Given the description of an element on the screen output the (x, y) to click on. 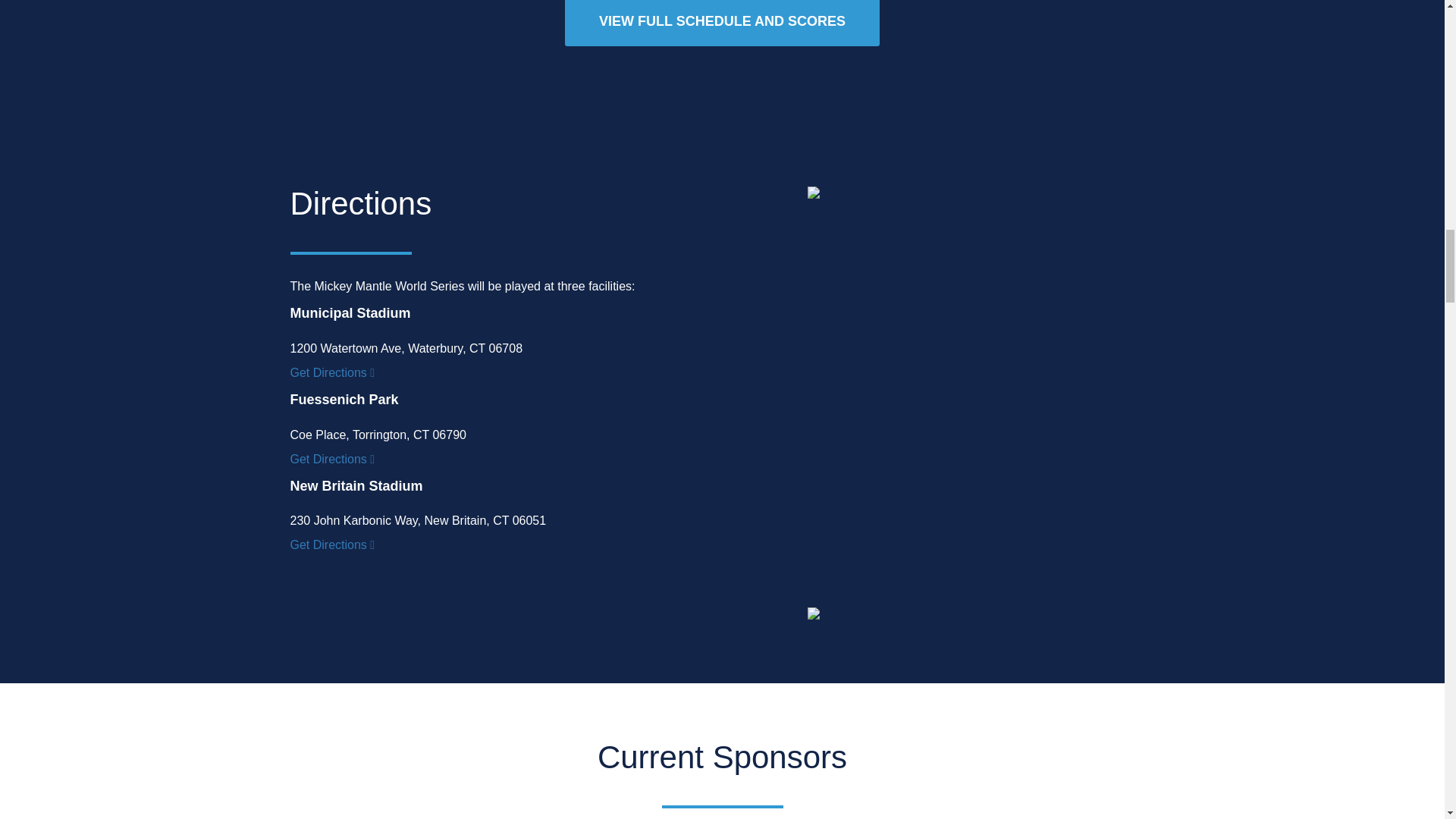
Get Directions (331, 372)
Get Directions (331, 459)
Get Directions (331, 545)
VIEW FULL SCHEDULE AND SCORES (721, 22)
